Given the description of an element on the screen output the (x, y) to click on. 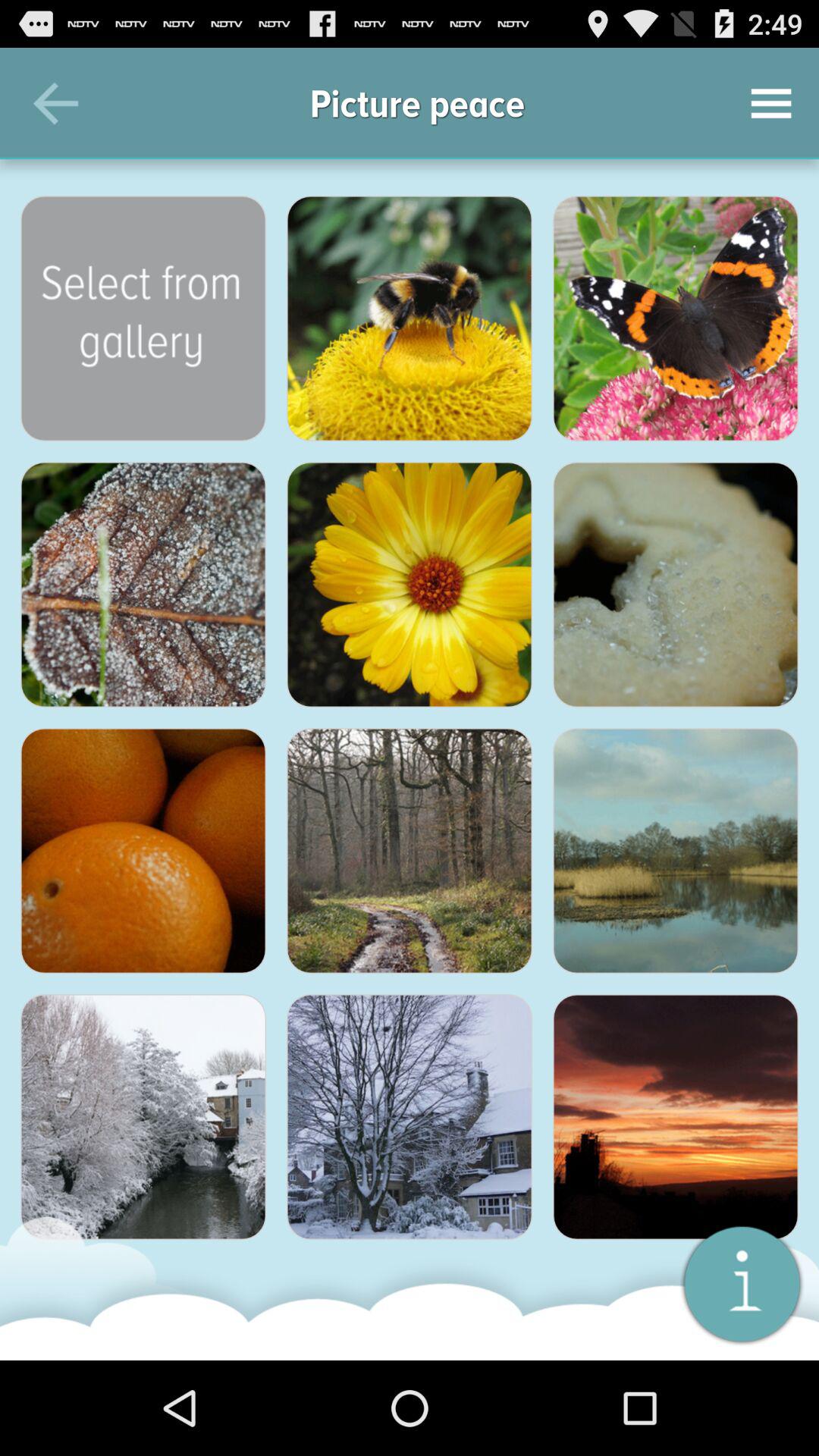
select picture of sunset (675, 1116)
